Given the description of an element on the screen output the (x, y) to click on. 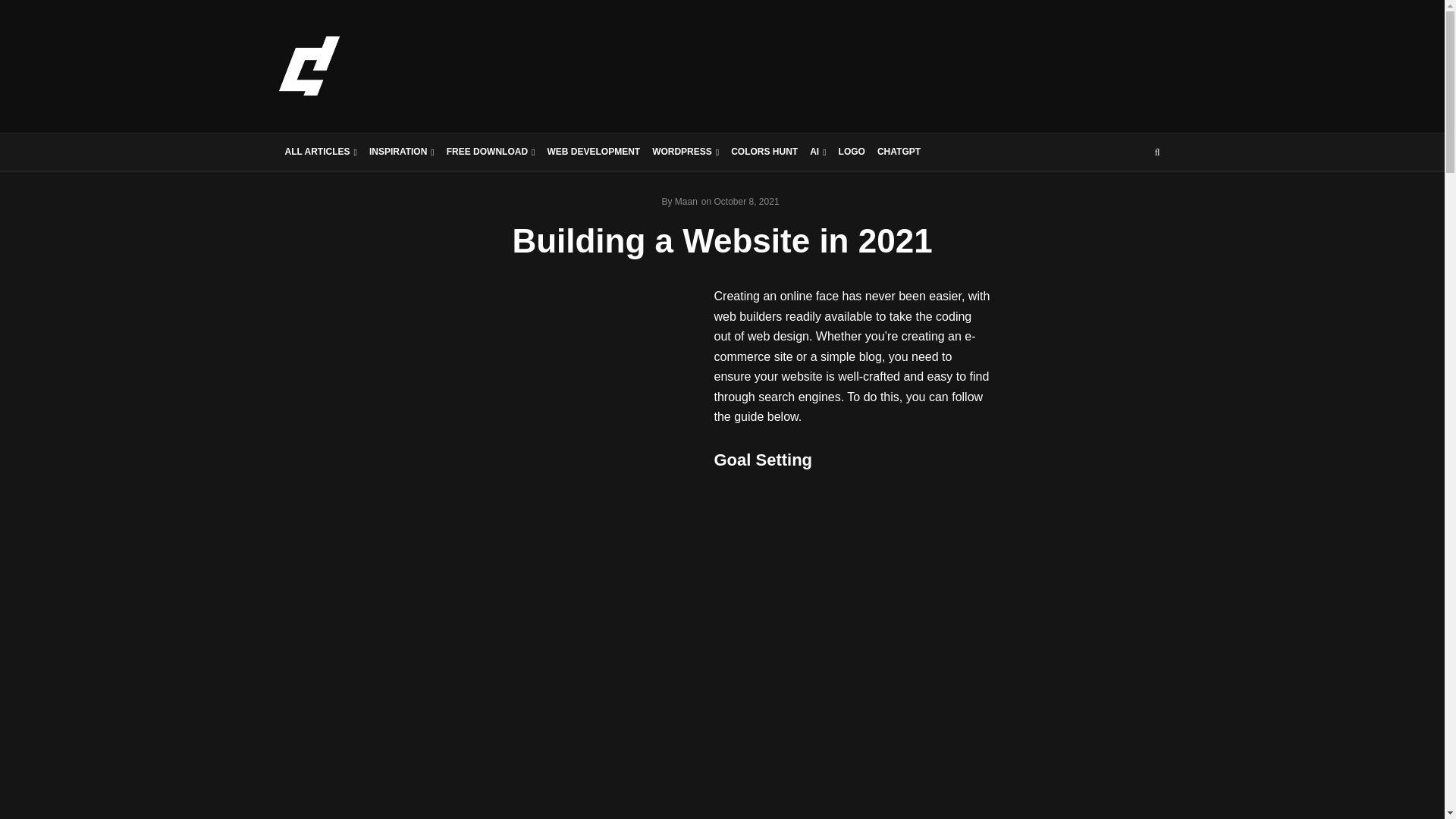
ALL ARTICLES (320, 152)
INSPIRATION (401, 152)
